Given the description of an element on the screen output the (x, y) to click on. 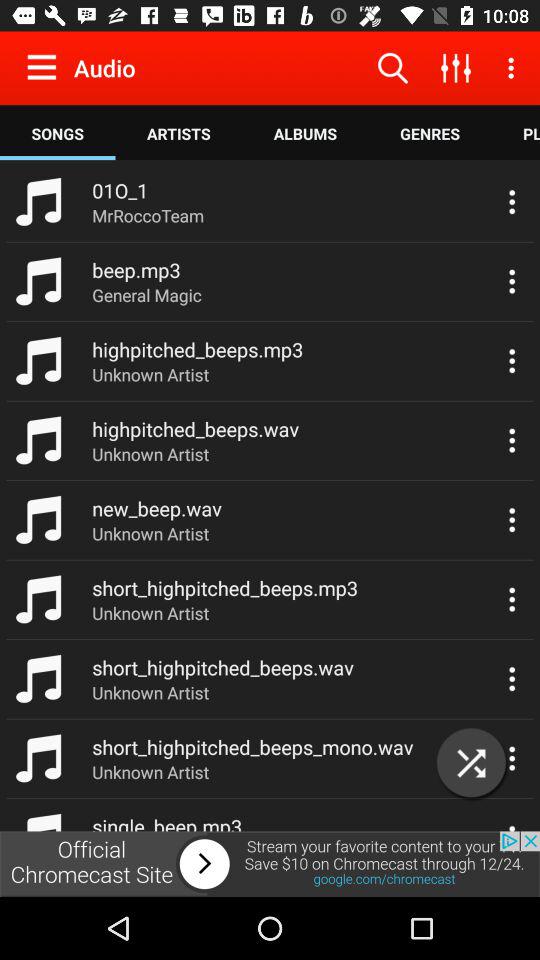
advertisement (270, 864)
